Given the description of an element on the screen output the (x, y) to click on. 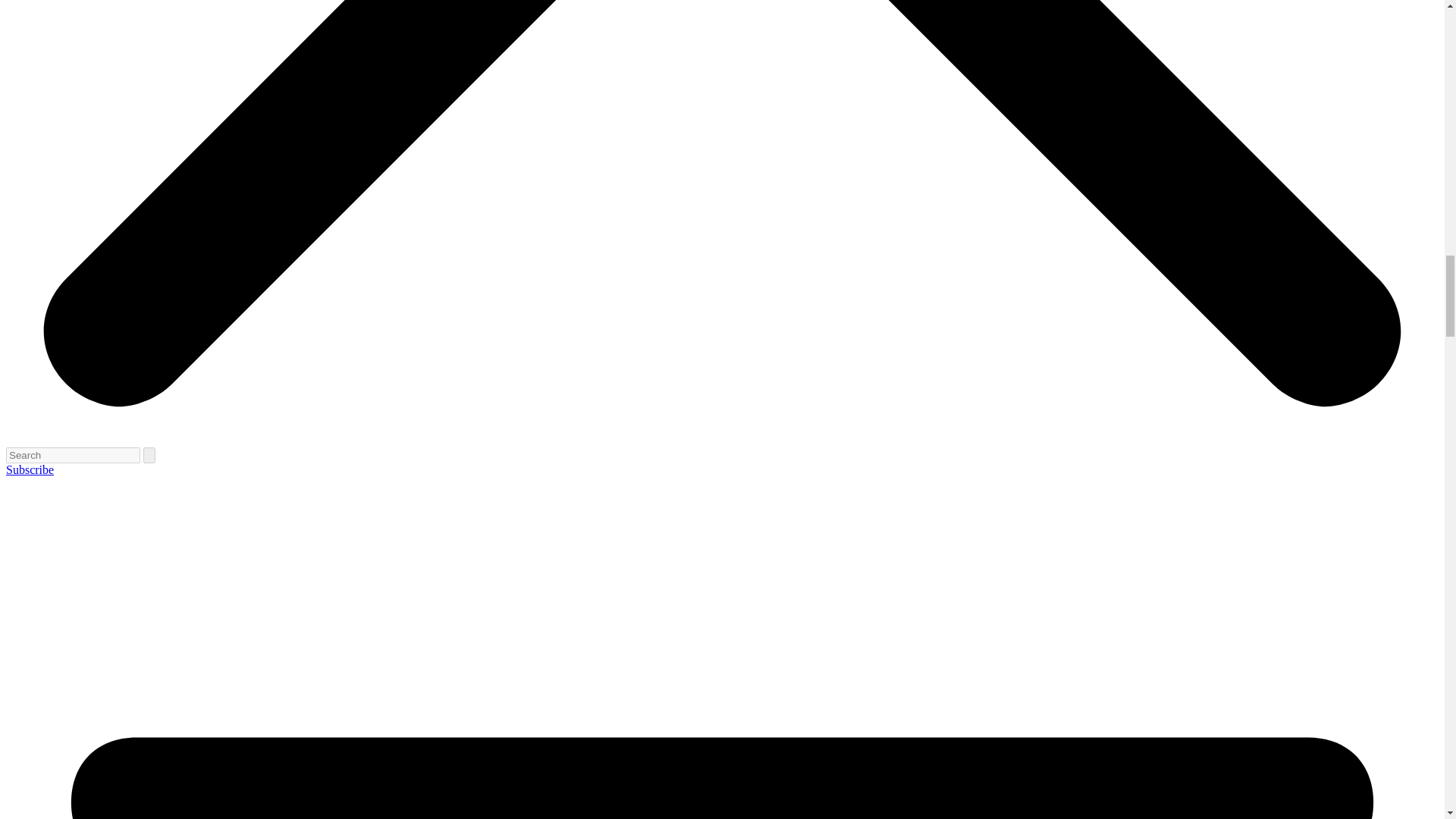
Subscribe (29, 469)
